Given the description of an element on the screen output the (x, y) to click on. 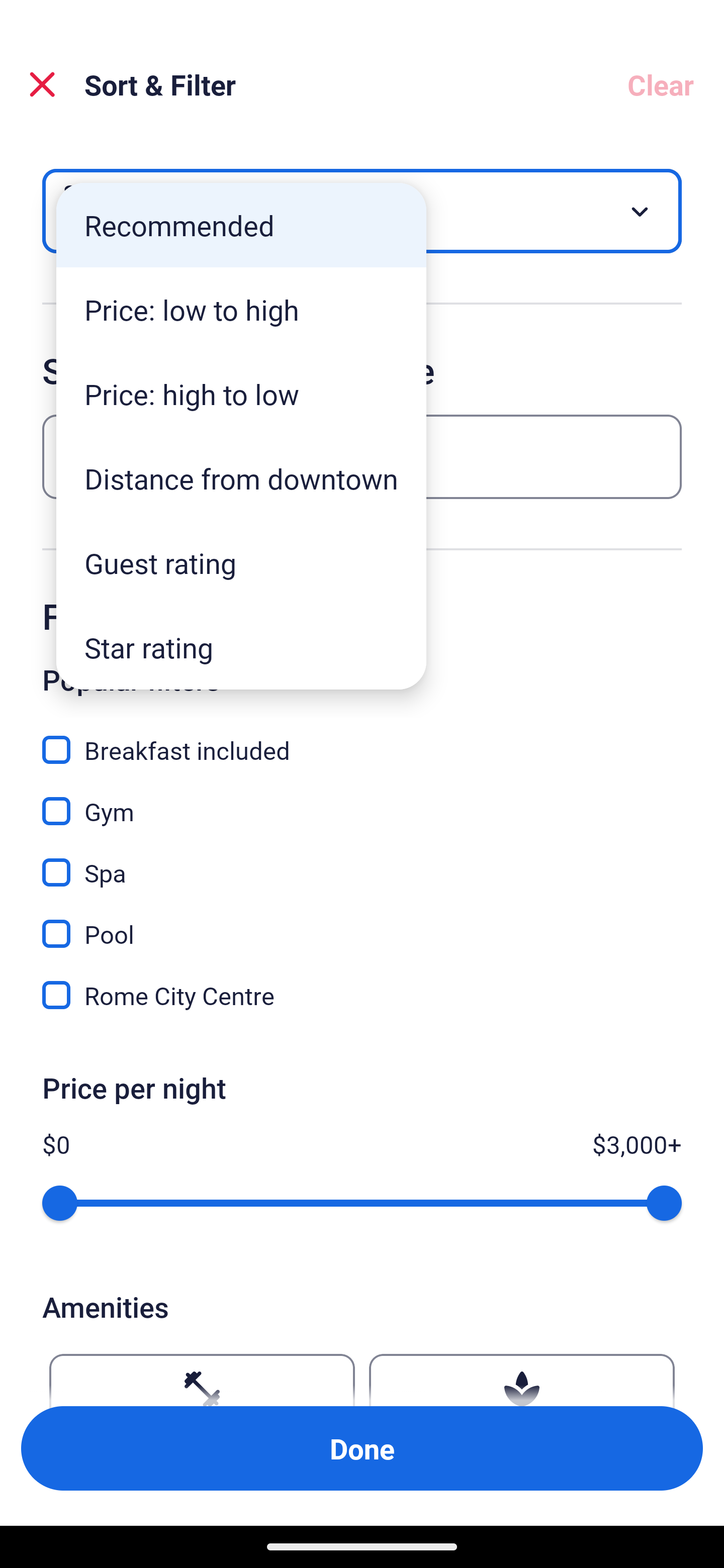
Price: low to high (241, 309)
Price: high to low (241, 393)
Distance from downtown (241, 477)
Guest rating (241, 562)
Star rating (241, 647)
